Given the description of an element on the screen output the (x, y) to click on. 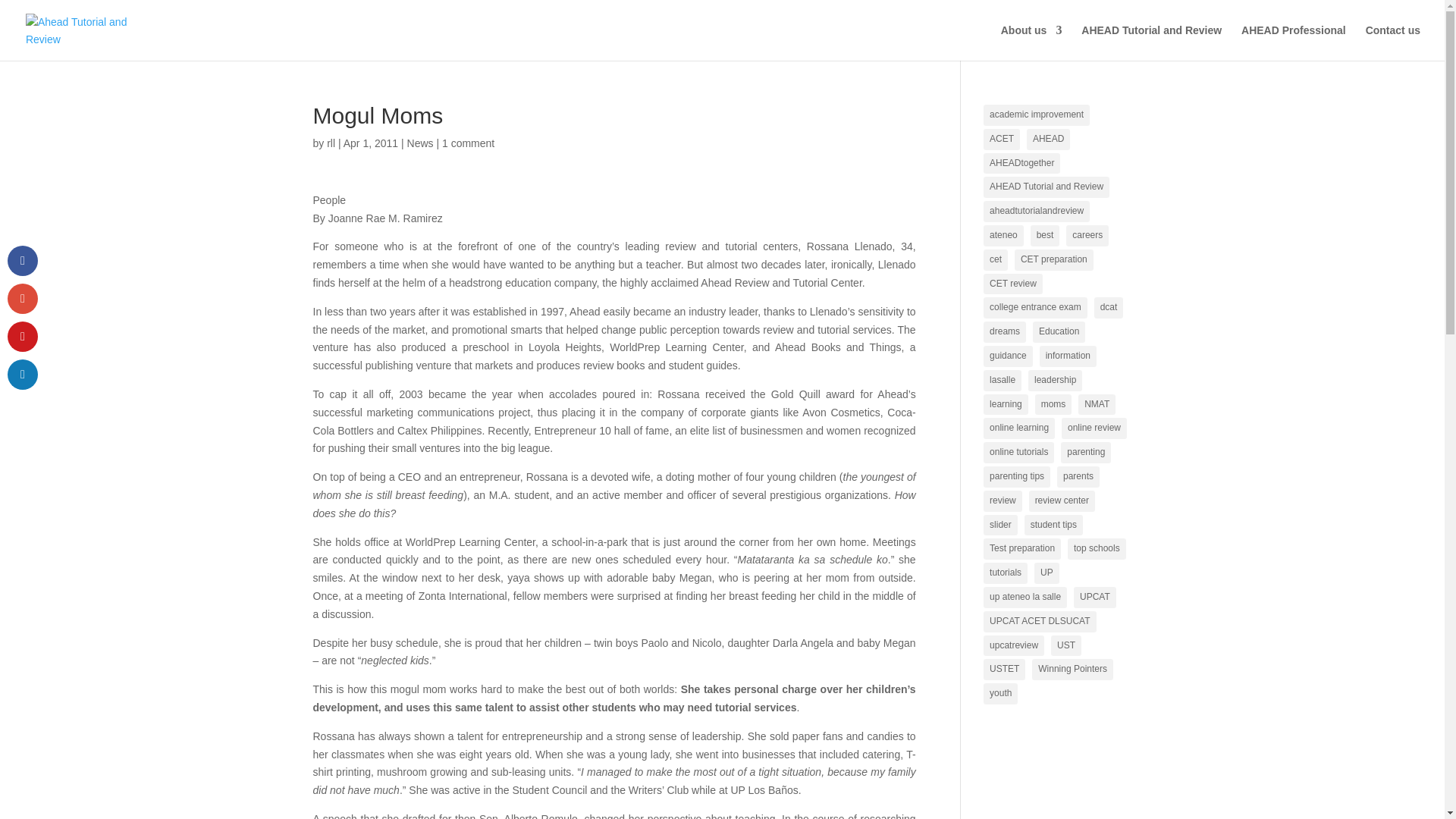
AHEAD (1048, 138)
AHEAD Tutorial and Review (1046, 187)
learning (1005, 404)
News (420, 143)
ACET (1002, 138)
online learning (1019, 427)
cet (995, 260)
1 comment (468, 143)
leadership (1054, 380)
AHEAD Tutorial and Review (1151, 42)
